Given the description of an element on the screen output the (x, y) to click on. 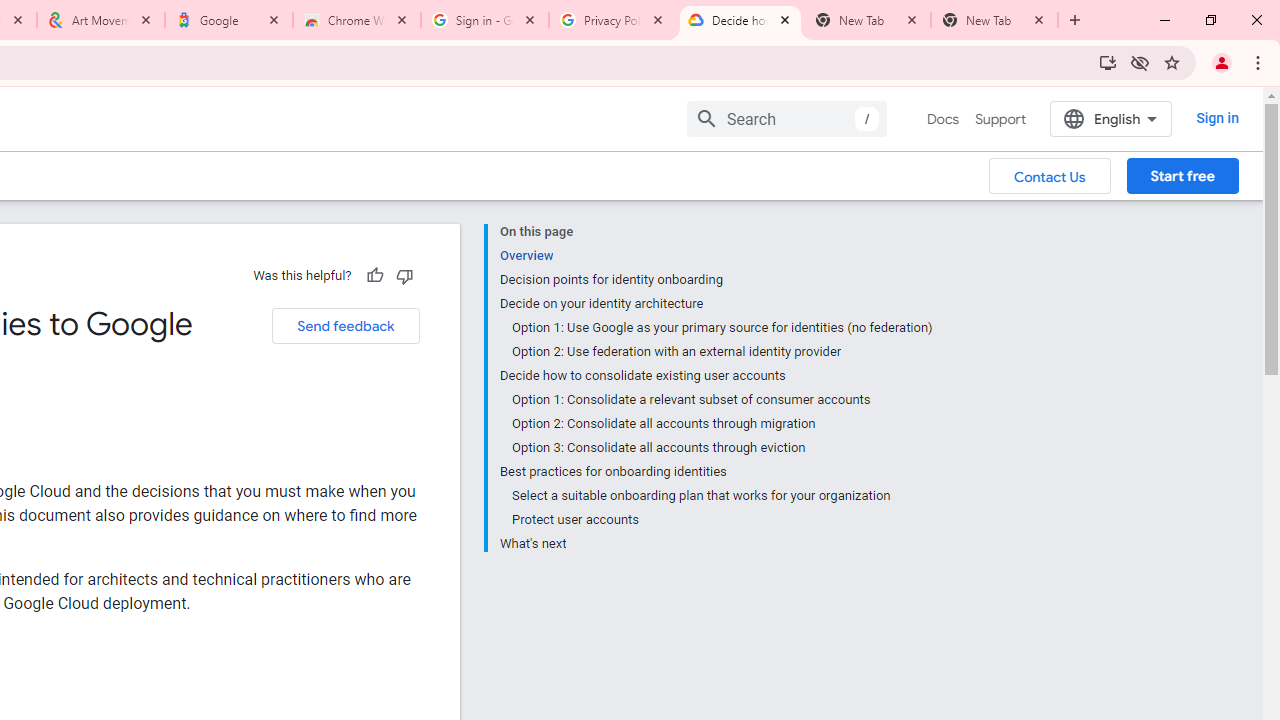
Docs, selected (942, 119)
Sign in - Google Accounts (485, 20)
Start free (1182, 175)
Google (229, 20)
Decide on your identity architecture (716, 304)
Best practices for onboarding identities (716, 471)
Option 3: Consolidate all accounts through eviction (721, 448)
Support (1000, 119)
Option 2: Consolidate all accounts through migration (721, 423)
